Given the description of an element on the screen output the (x, y) to click on. 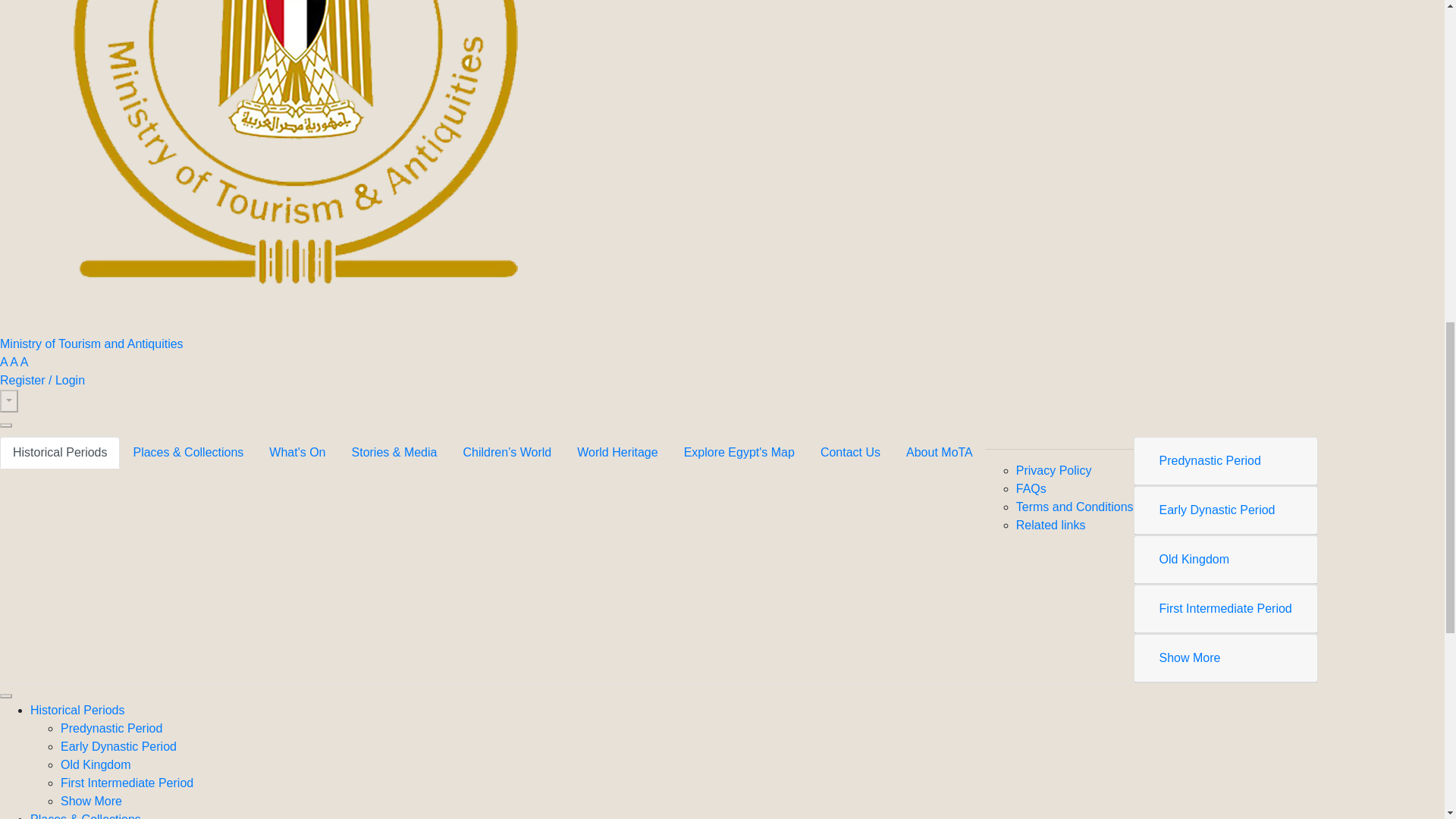
Old Kingdom (1194, 558)
FAQs (1031, 488)
Early Dynastic Period (1216, 509)
Historical Periods (59, 452)
Explore Egypt's Map (739, 452)
Show More (1189, 657)
Explore Egypt's Map (739, 452)
Related links (1051, 524)
About MoTA (939, 452)
Privacy Policy (1054, 470)
